Given the description of an element on the screen output the (x, y) to click on. 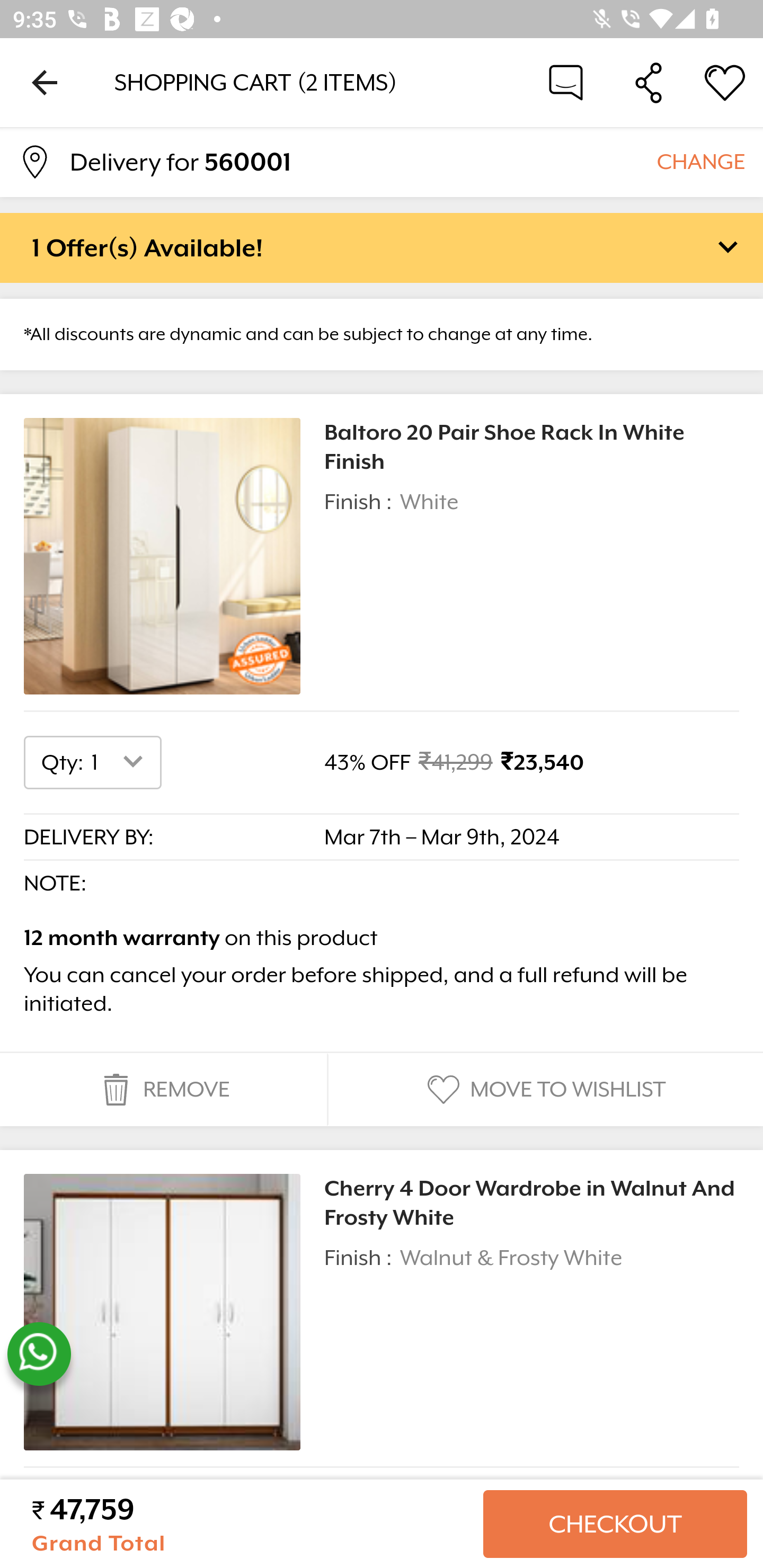
Navigate up (44, 82)
Chat (565, 81)
Share Cart (648, 81)
Wishlist (724, 81)
CHANGE (700, 161)
1 Offer(s) Available! (381, 247)
1 (121, 761)
REMOVE (163, 1089)
MOVE TO WISHLIST (544, 1089)
whatsapp (38, 1353)
₹ 47,759 Grand Total (250, 1523)
CHECKOUT (614, 1523)
1 (121, 1518)
